Given the description of an element on the screen output the (x, y) to click on. 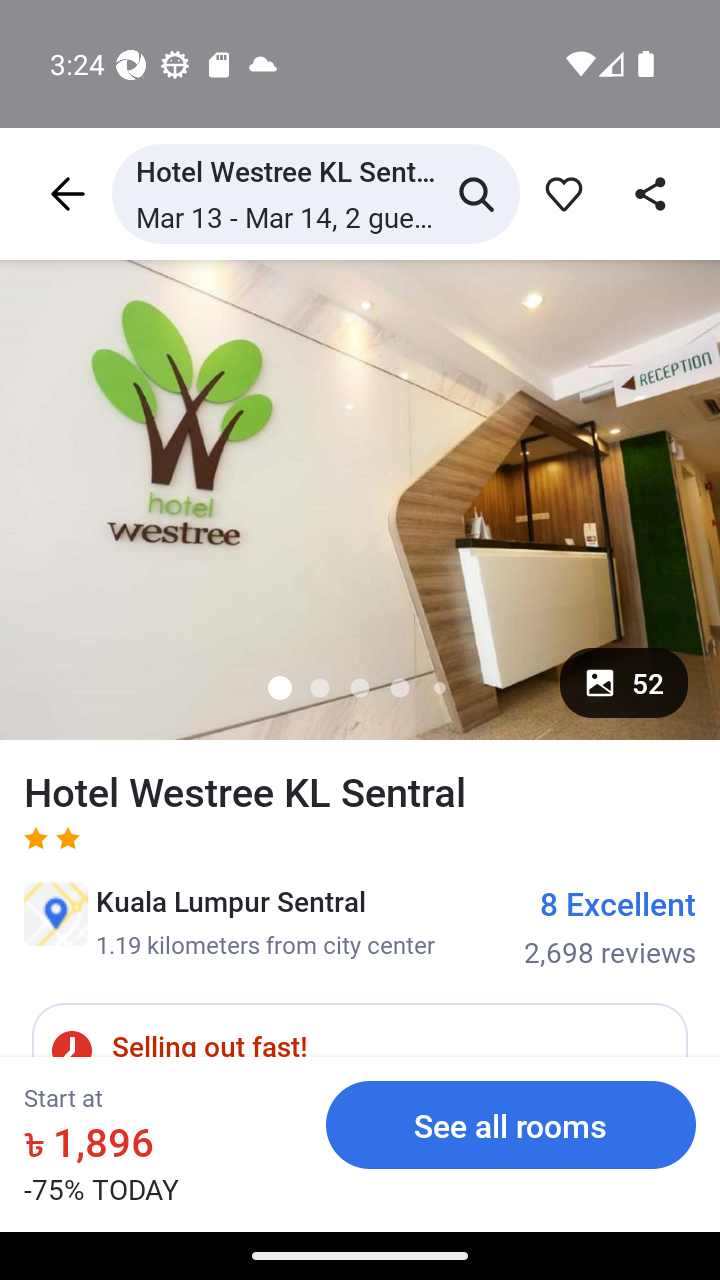
header icon (66, 193)
favorite_icon 51e95598 (560, 193)
share_header_icon (651, 193)
image (360, 499)
52 (624, 682)
8 Excellent 2,698 reviews (610, 927)
See all rooms (511, 1124)
